Given the description of an element on the screen output the (x, y) to click on. 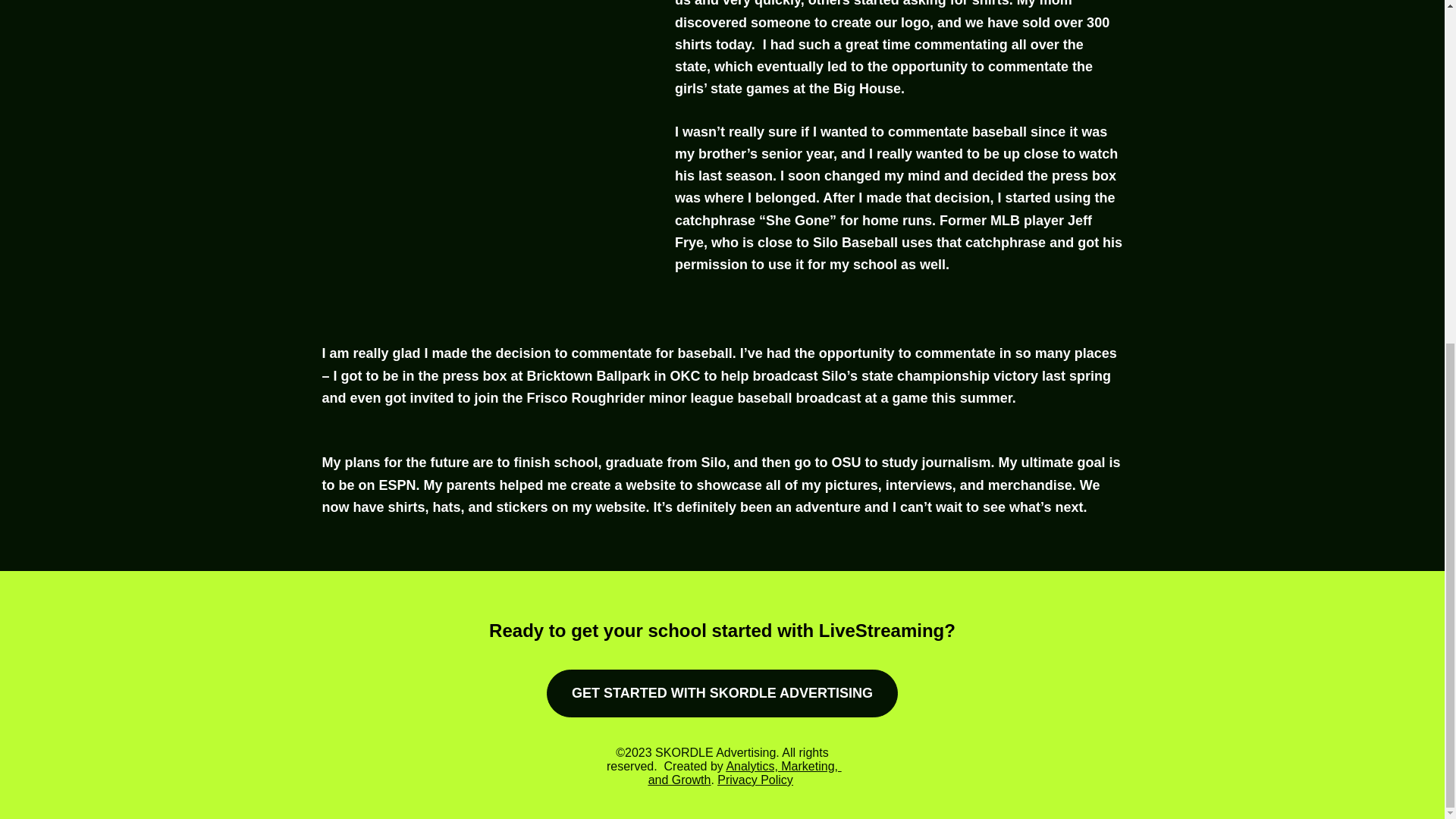
Privacy Policy (755, 779)
GET STARTED WITH SKORDLE ADVERTISING (722, 692)
Analytics, Marketing, and Growth (744, 773)
